Given the description of an element on the screen output the (x, y) to click on. 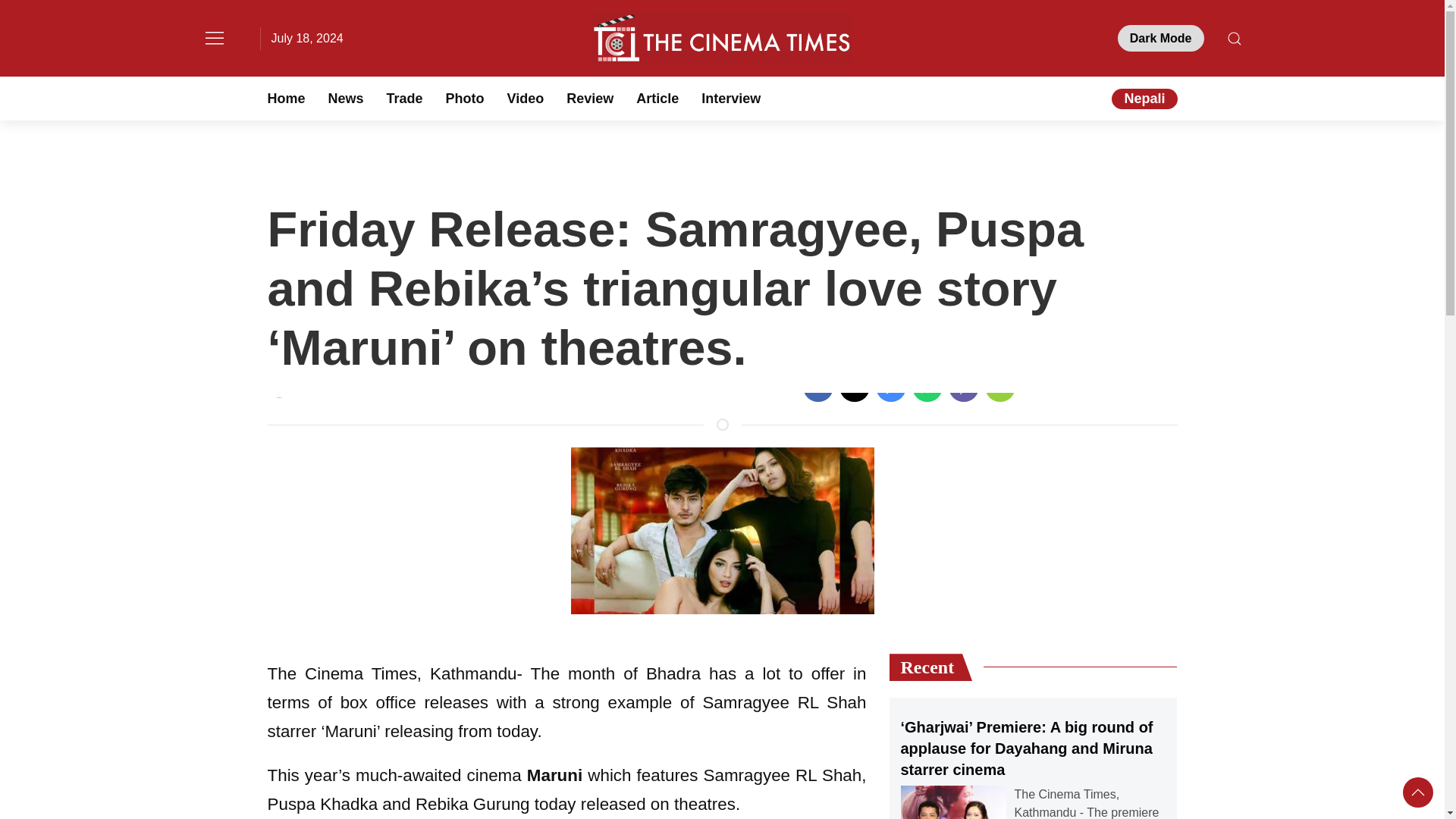
Article (657, 98)
Dark Mode (1161, 38)
Nepali (1144, 98)
July 18, 2024 (306, 38)
Recent (930, 666)
Review (589, 98)
Dark Mode (1160, 38)
Interview (730, 98)
